Given the description of an element on the screen output the (x, y) to click on. 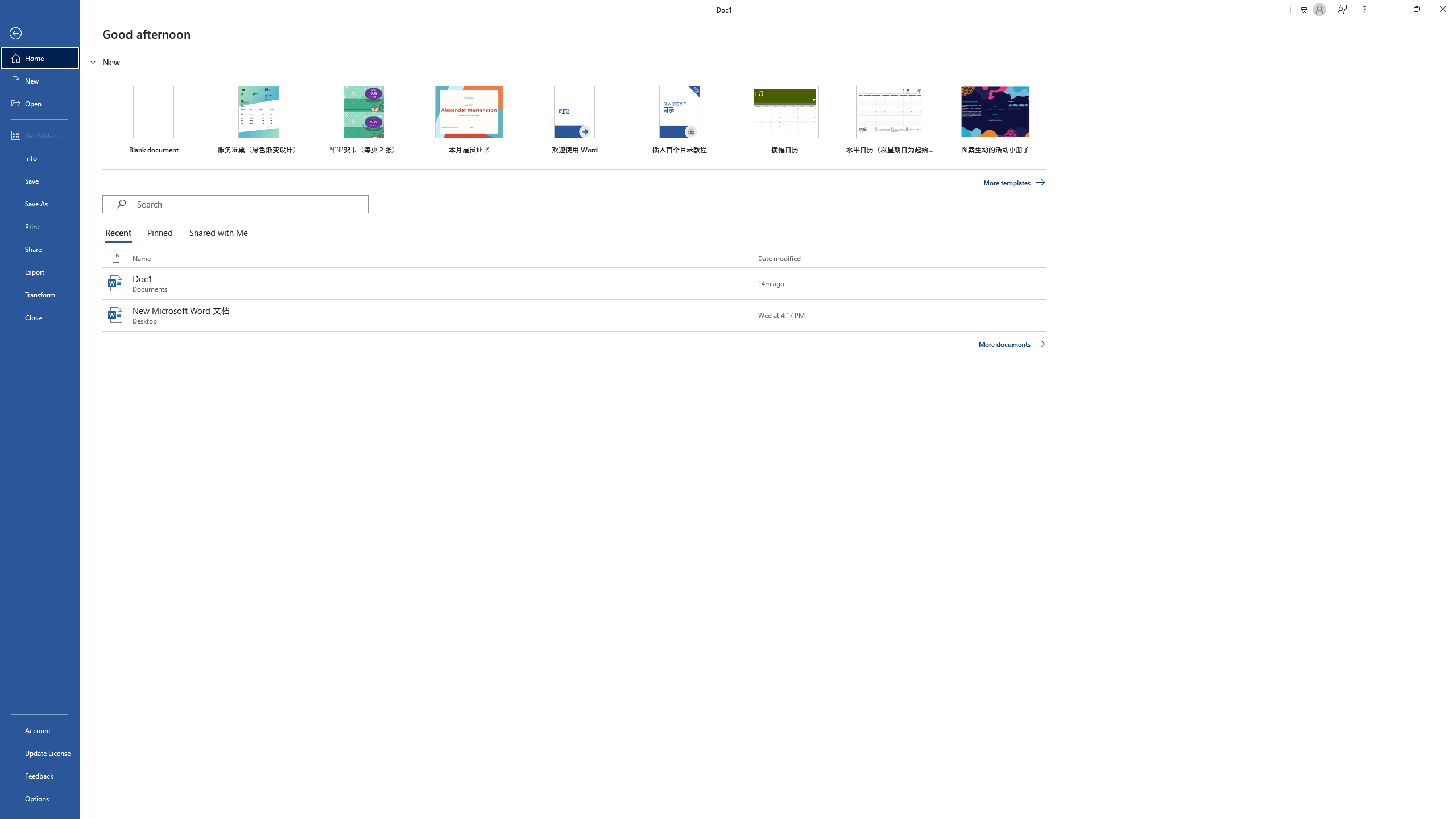
Update License (40, 753)
Feedback (40, 775)
Doc1 (573, 283)
Shared with Me (215, 233)
Transform (40, 294)
Recent (119, 233)
Pin this item to the list (739, 314)
Hide or show region (92, 61)
Back (40, 33)
